Given the description of an element on the screen output the (x, y) to click on. 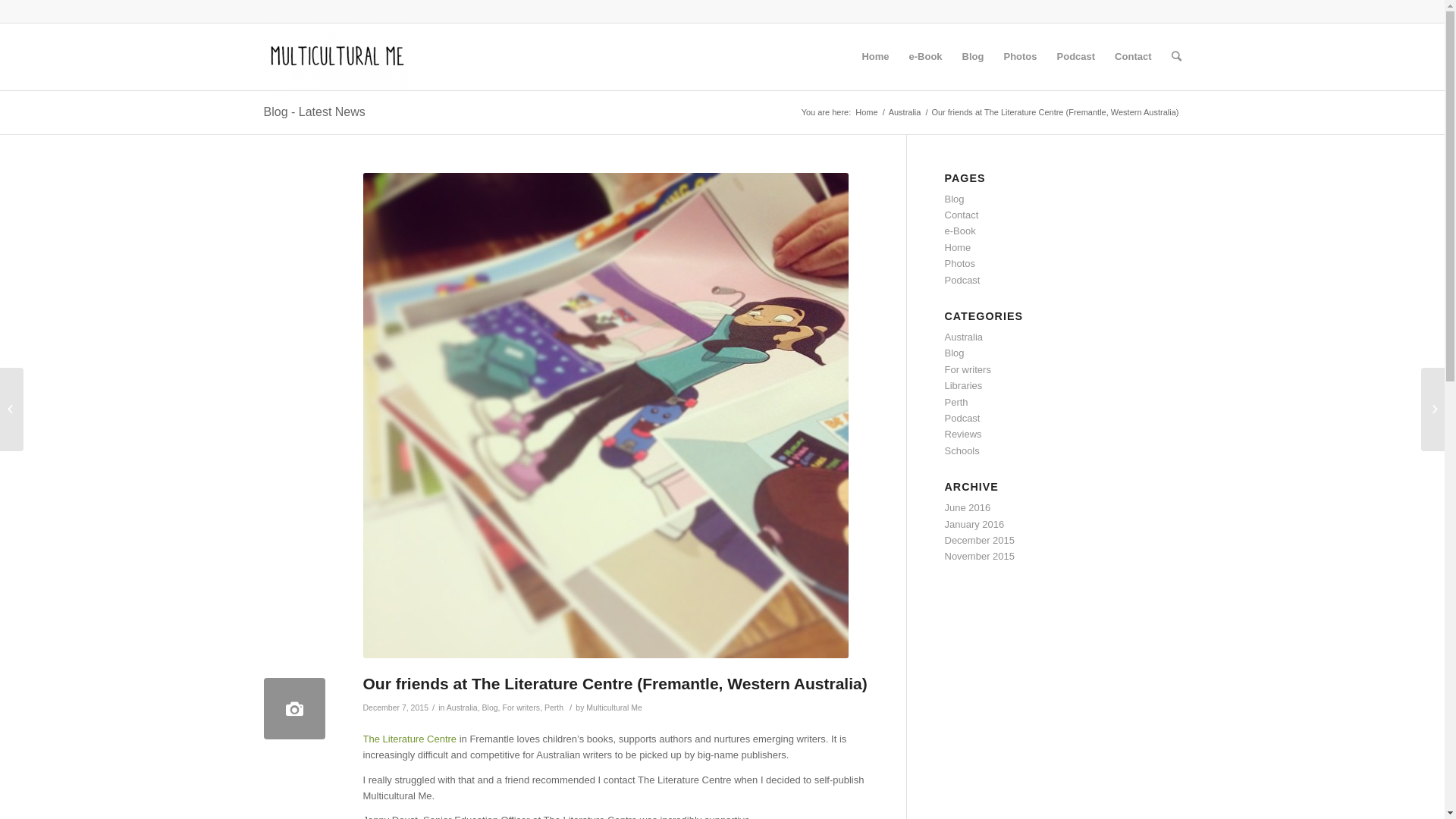
Schools Element type: text (961, 450)
For writers Element type: text (520, 707)
Home Element type: text (874, 56)
January 2016 Element type: text (974, 524)
For writers Element type: text (967, 369)
Australia Element type: text (963, 336)
Australia Element type: text (461, 707)
Libraries Element type: text (963, 385)
Australia Element type: text (904, 112)
Photos Element type: text (959, 263)
Photos Element type: text (1019, 56)
Blog Element type: text (954, 352)
Blog Element type: text (490, 707)
e-Book Element type: text (959, 230)
Home Element type: text (866, 112)
Perth Element type: text (553, 707)
Contact Element type: text (1132, 56)
Podcast Element type: text (962, 417)
Home Element type: text (957, 247)
Perth Element type: text (956, 401)
Podcast Element type: text (1076, 56)
Contact Element type: text (961, 214)
e-Book Element type: text (925, 56)
The Literature Centre Element type: text (409, 738)
Multicultural Me Element type: text (614, 707)
June 2016 Element type: text (967, 507)
Blog Element type: text (954, 198)
November 2015 Element type: text (979, 555)
Reviews Element type: text (963, 433)
Podcast Element type: text (962, 279)
Blog Element type: text (973, 56)
December 2015 Element type: text (979, 540)
Blog - Latest News Element type: text (314, 111)
